Given the description of an element on the screen output the (x, y) to click on. 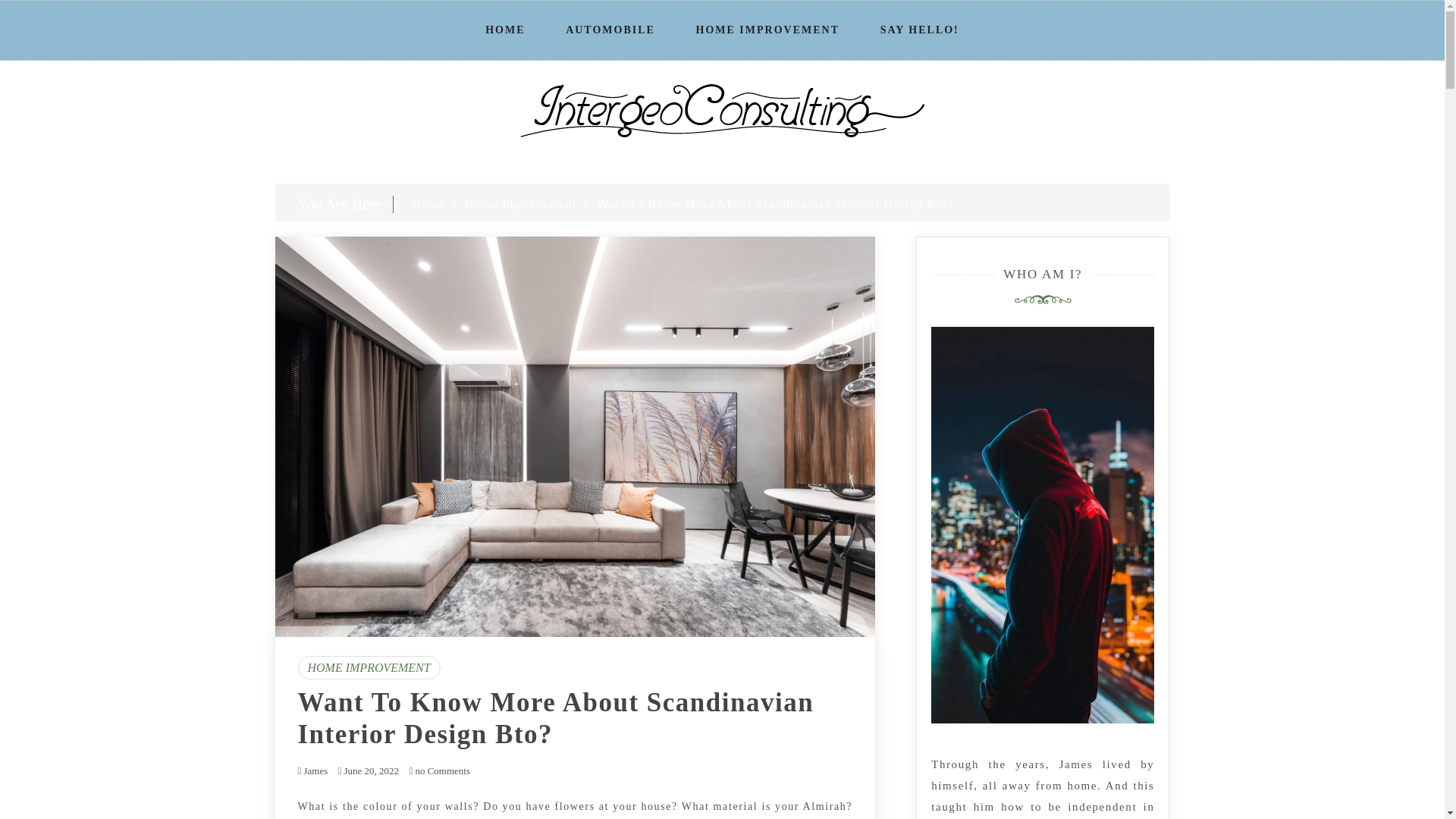
June 20, 2022 (370, 770)
Home Improvement (520, 203)
Posts by James (314, 770)
HOME IMPROVEMENT (768, 29)
Home (428, 203)
Want To Know More About Scandinavian Interior Design Bto? (555, 718)
HOME IMPROVEMENT (368, 667)
James (314, 770)
HOME (505, 29)
AUTOMOBILE (609, 29)
SAY HELLO! (918, 29)
no Comments (439, 770)
